Given the description of an element on the screen output the (x, y) to click on. 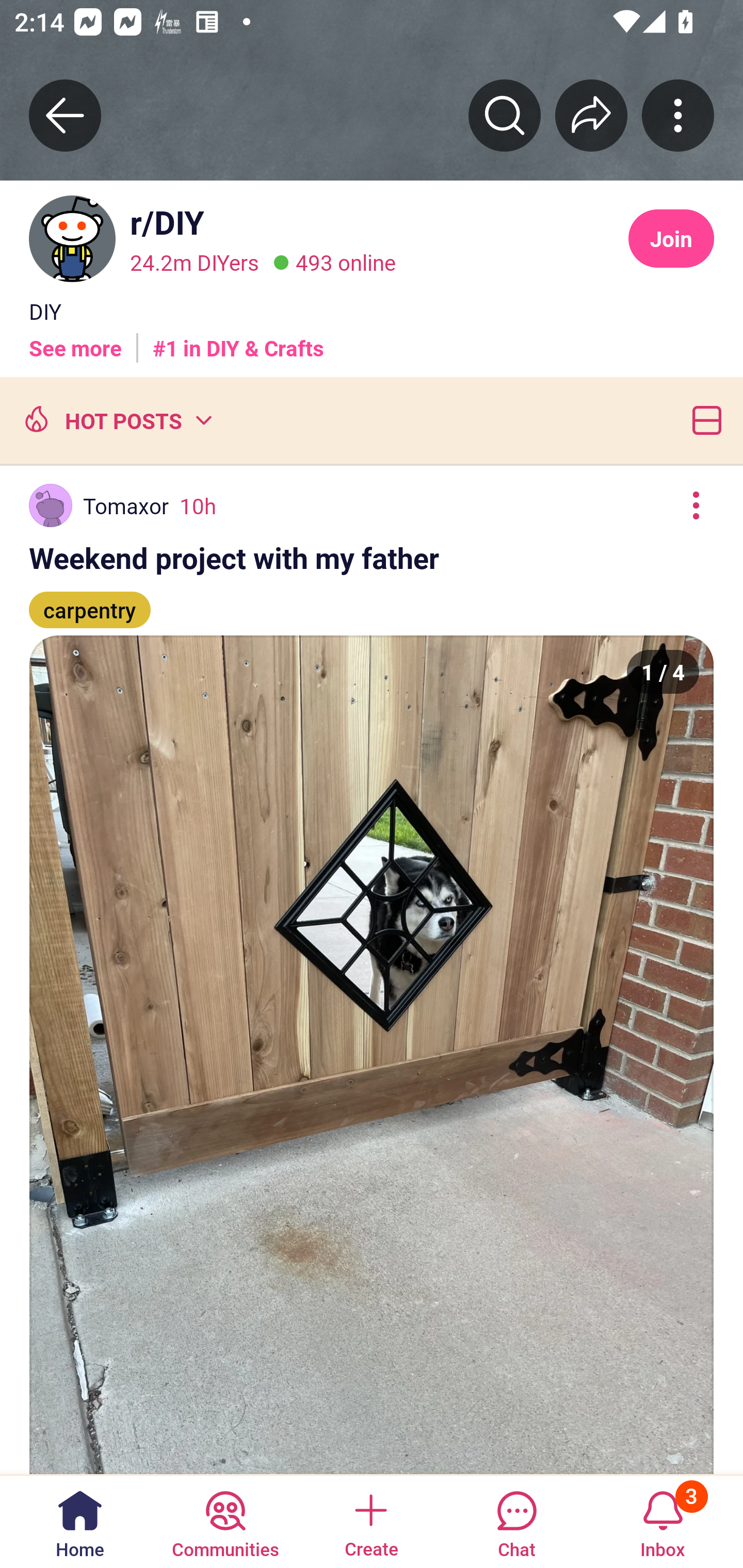
Back (64, 115)
Search r/﻿DIY (504, 115)
Share r/﻿DIY (591, 115)
More community actions (677, 115)
See more (74, 340)
#1 in DIY & Crafts (238, 340)
Hot posts HOT POSTS (116, 420)
Card (703, 420)
carpentry (89, 601)
Home (80, 1520)
Communities (225, 1520)
Create a post Create (370, 1520)
Chat (516, 1520)
Inbox, has 3 notifications 3 Inbox (662, 1520)
